Given the description of an element on the screen output the (x, y) to click on. 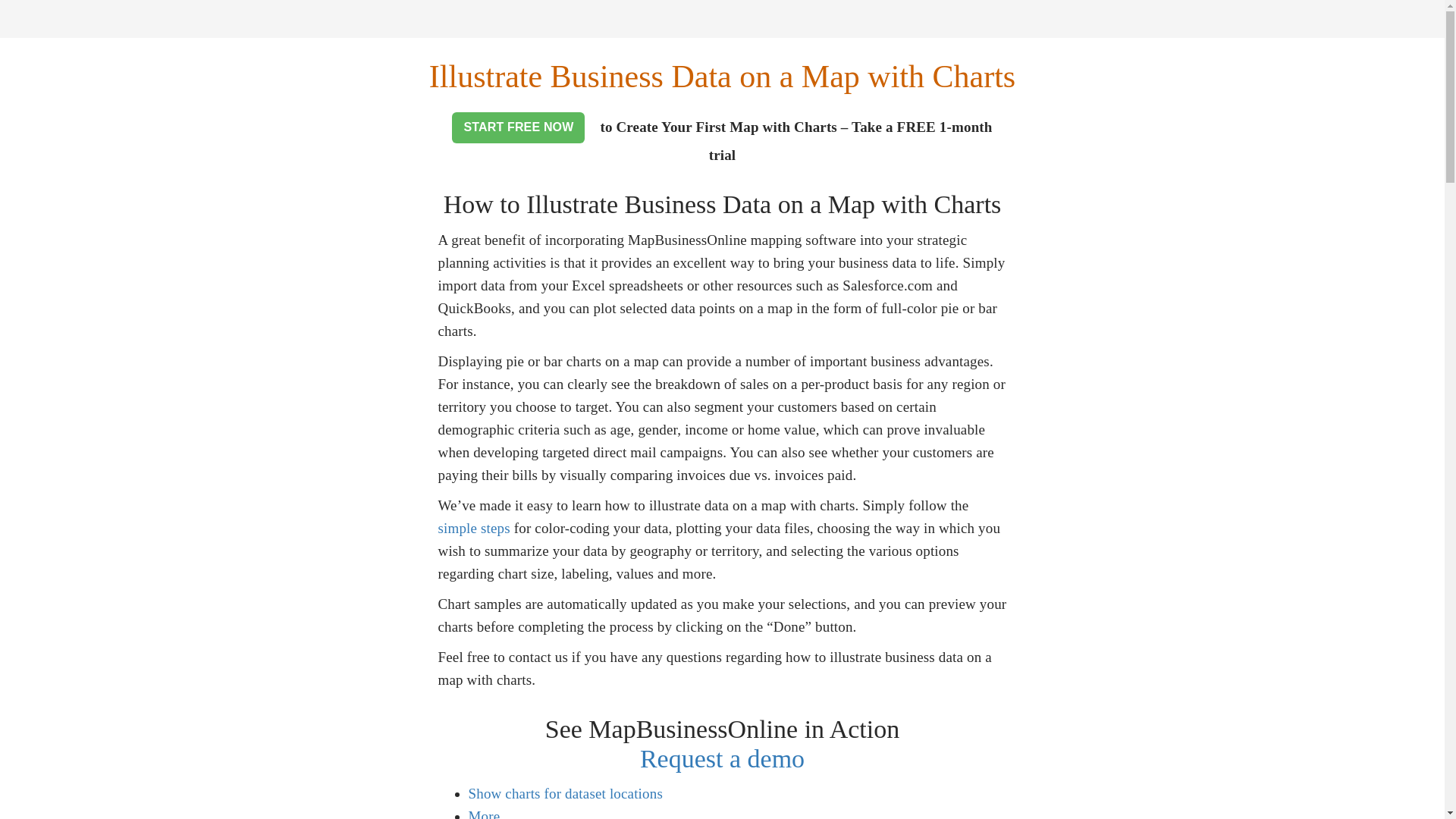
Show charts for dataset locations (565, 793)
START FREE NOW (518, 127)
More... (490, 813)
simple steps (474, 528)
Request a demo (722, 758)
